Given the description of an element on the screen output the (x, y) to click on. 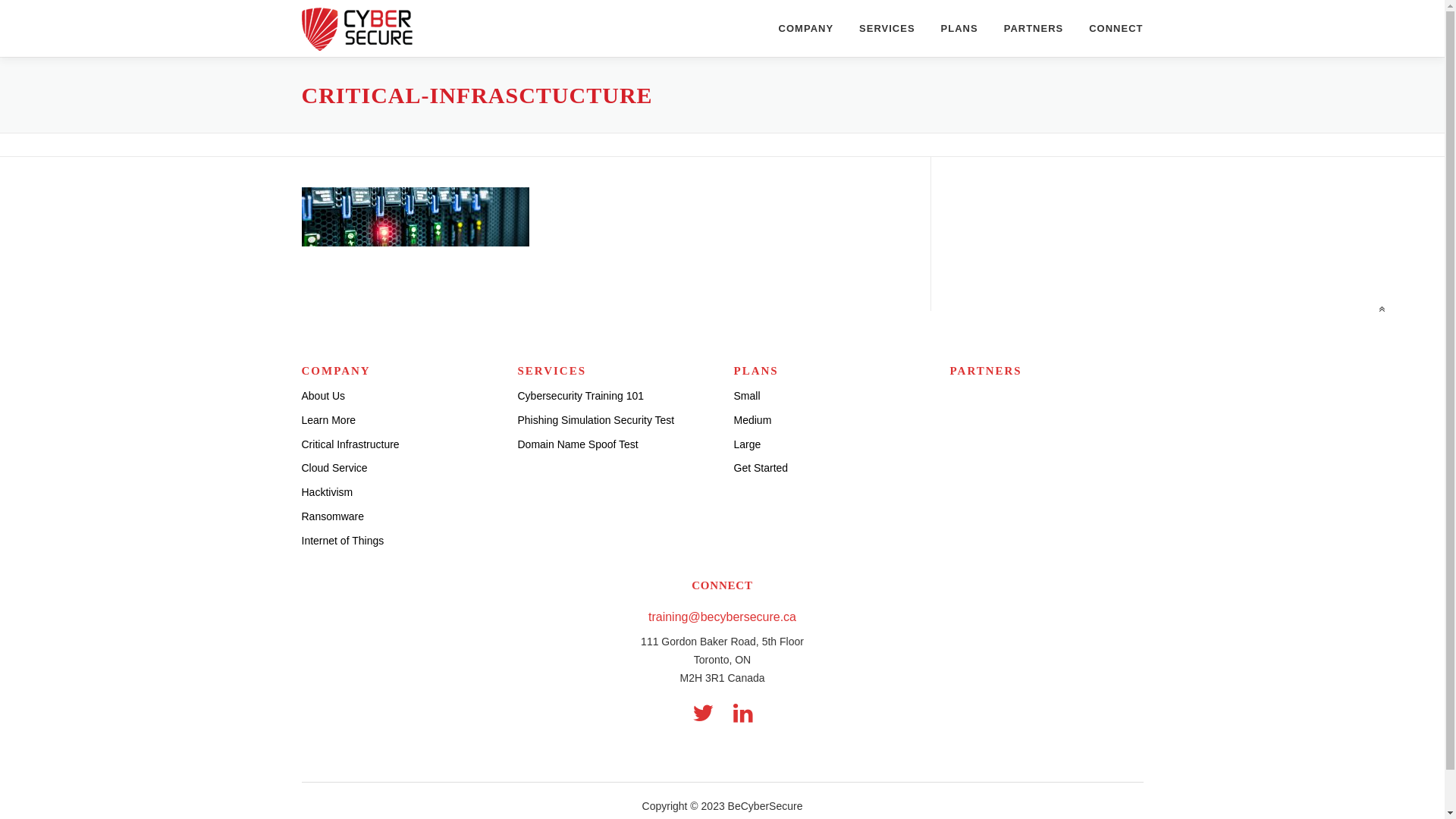
CONNECT Element type: text (1109, 28)
PLANS Element type: text (959, 28)
training@becybersecure.ca Element type: text (722, 616)
About Us Element type: text (323, 395)
Ransomware Element type: text (332, 516)
COMPANY Element type: text (805, 28)
LinkedIn Element type: hover (742, 712)
Back To Top Element type: hover (1372, 303)
Medium Element type: text (752, 420)
Critical Infrastructure Element type: text (350, 444)
Cloud Service Element type: text (334, 467)
Twitter Element type: hover (701, 712)
SERVICES Element type: text (887, 28)
PARTNERS Element type: text (1033, 28)
Learn More Element type: text (328, 420)
Phishing Simulation Security Test Element type: text (595, 420)
Get Started Element type: text (761, 467)
Domain Name Spoof Test Element type: text (577, 444)
Hacktivism Element type: text (327, 492)
Internet of Things Element type: text (342, 540)
Cybersecurity Training 101 Element type: text (580, 395)
Large Element type: text (747, 444)
Small Element type: text (747, 395)
